Given the description of an element on the screen output the (x, y) to click on. 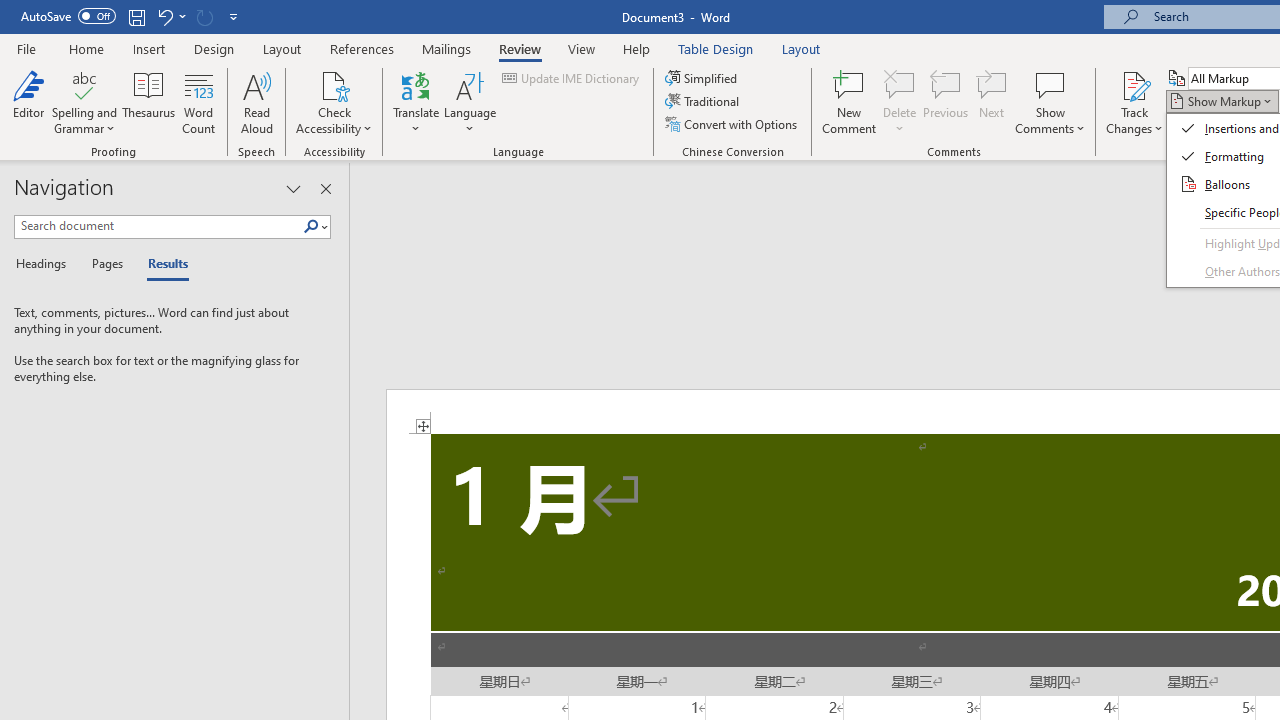
Thesaurus... (148, 102)
Next (991, 102)
Update IME Dictionary... (572, 78)
Show Comments (1050, 84)
Traditional (703, 101)
